Given the description of an element on the screen output the (x, y) to click on. 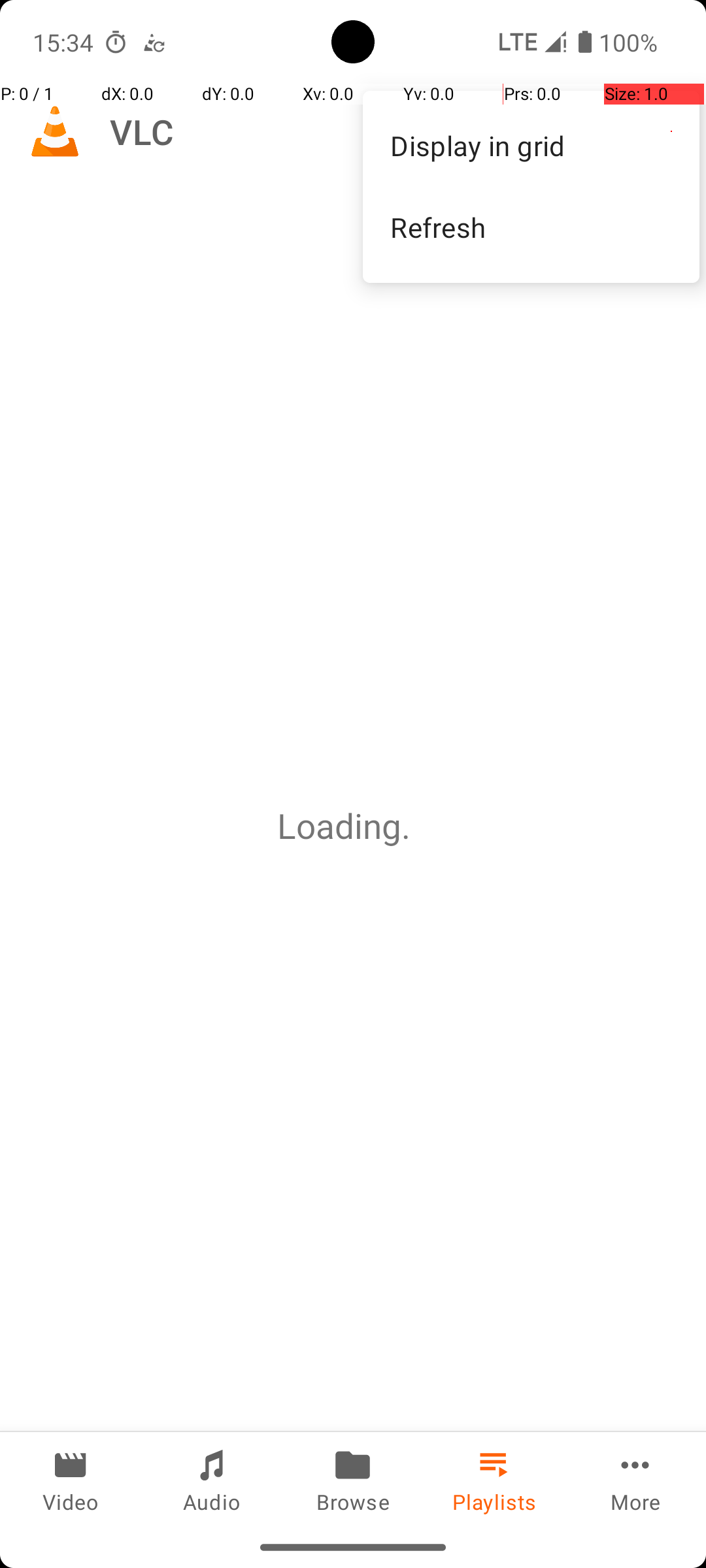
Display in grid Element type: android.widget.TextView (531, 144)
